Given the description of an element on the screen output the (x, y) to click on. 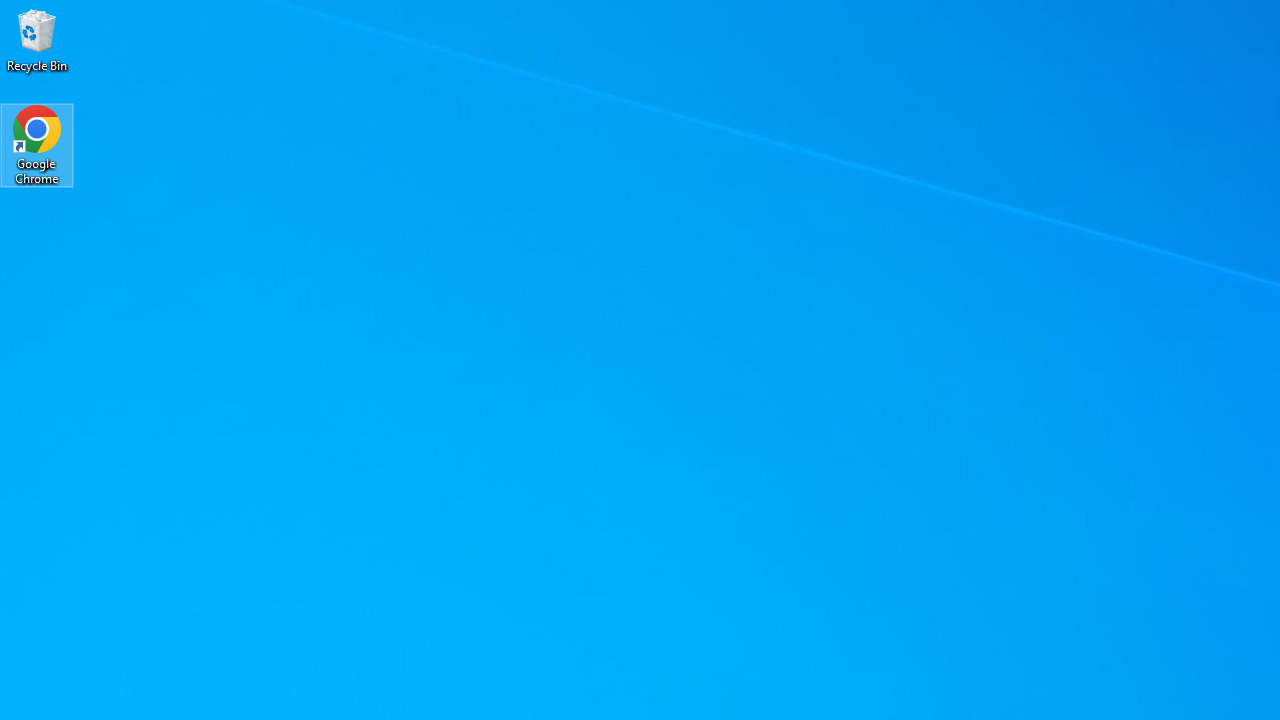
Recycle Bin (37, 39)
Google Chrome (37, 144)
